Given the description of an element on the screen output the (x, y) to click on. 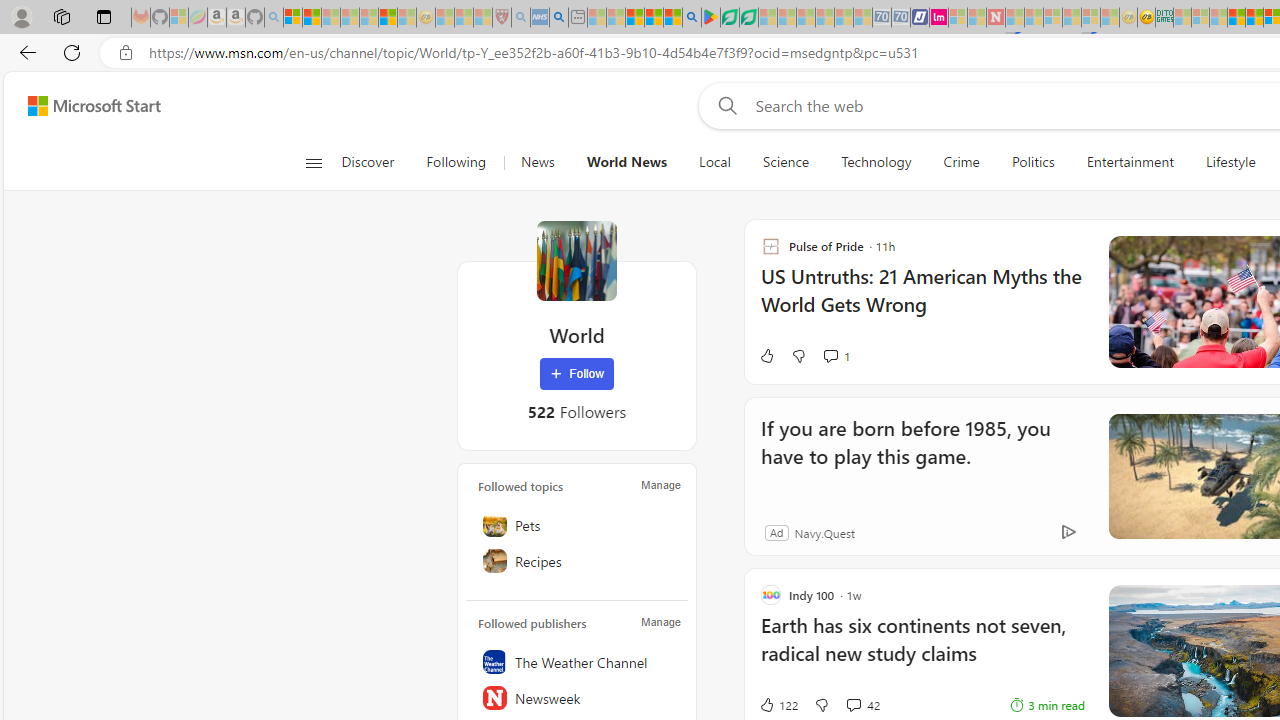
View comments 42 Comment (862, 704)
Pets (577, 525)
View comments 42 Comment (852, 704)
